Given the description of an element on the screen output the (x, y) to click on. 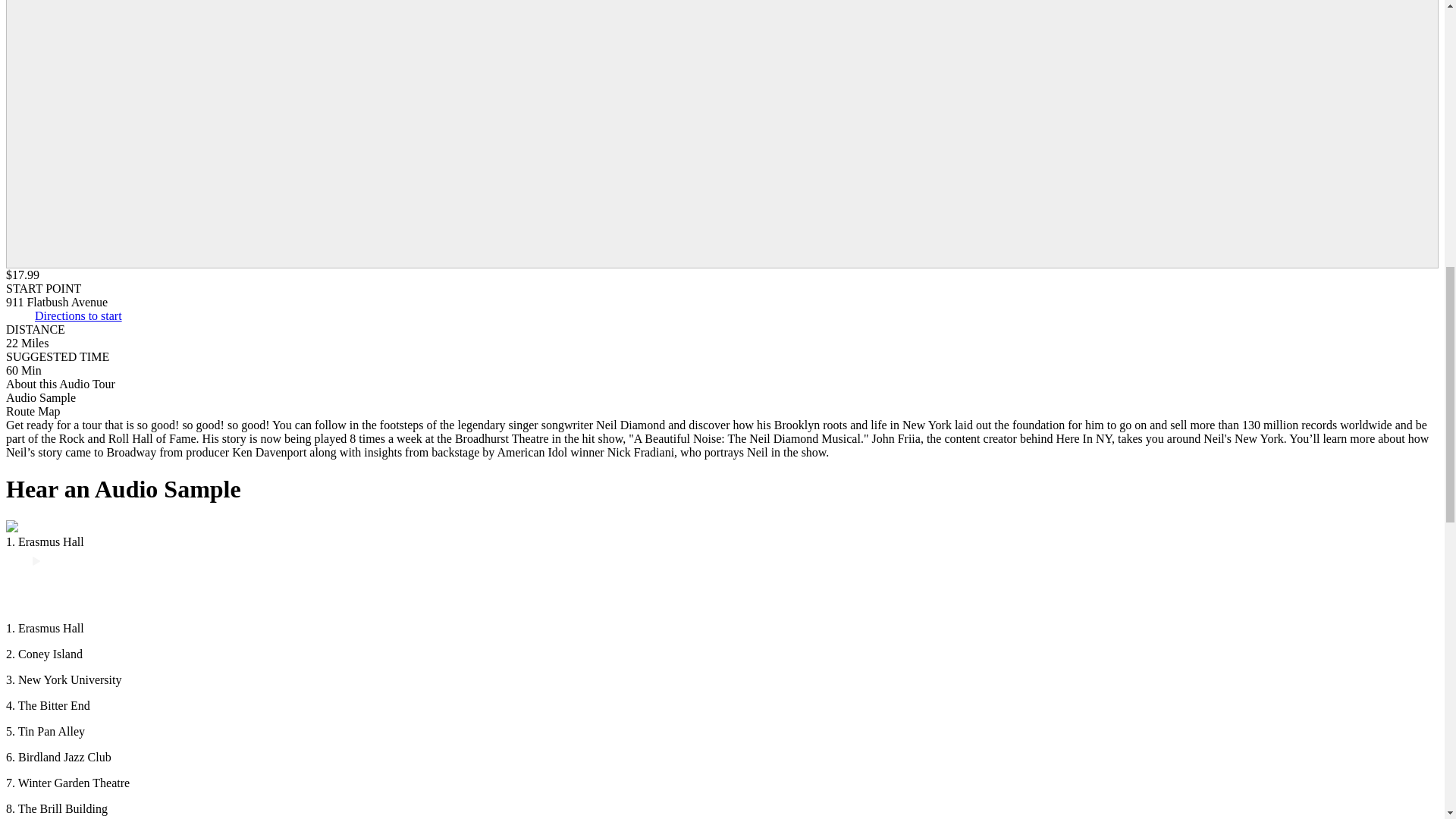
Directions to start (78, 315)
